Given the description of an element on the screen output the (x, y) to click on. 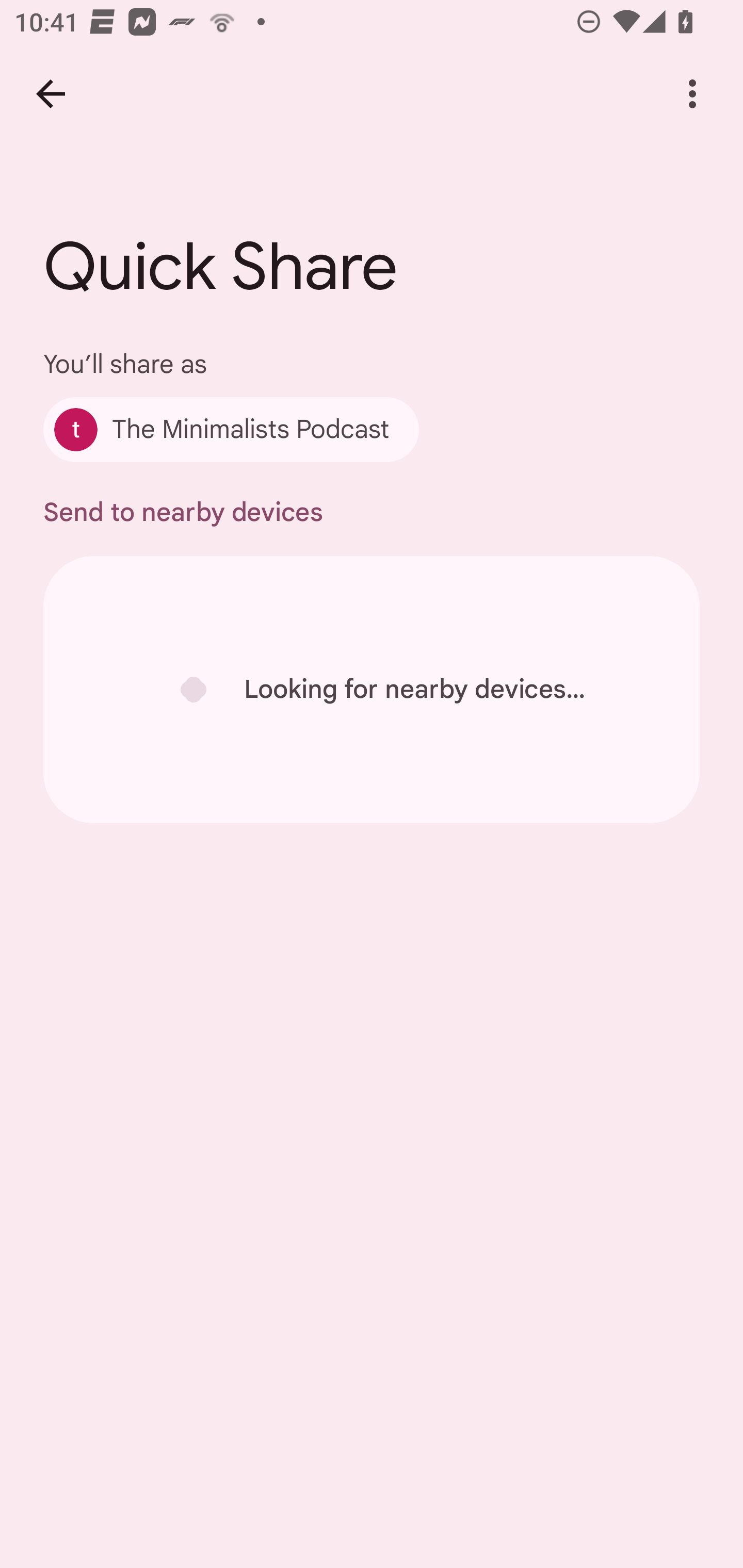
Back (50, 93)
More (692, 93)
The Minimalists Podcast (231, 429)
